Given the description of an element on the screen output the (x, y) to click on. 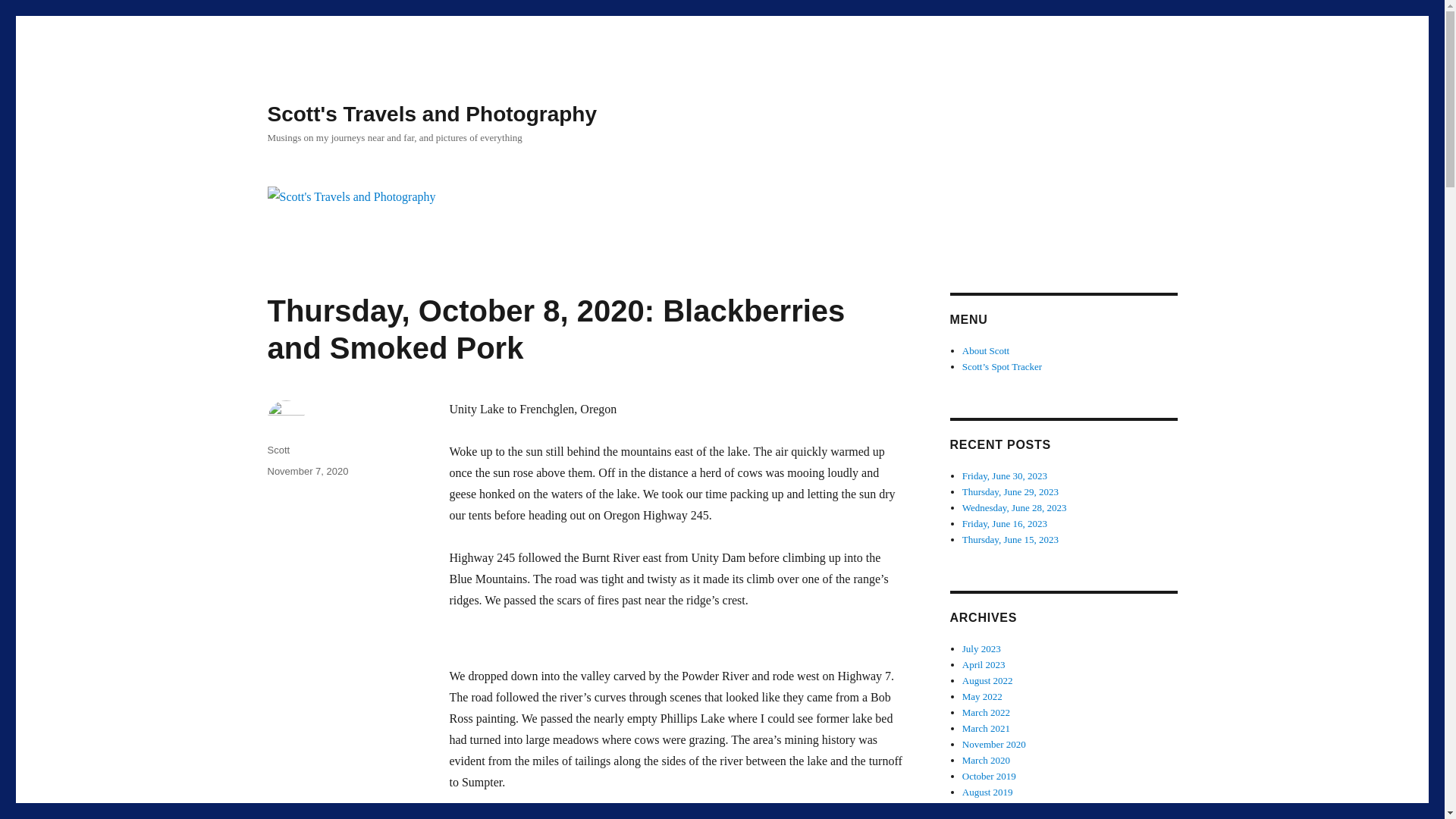
March 2022 (986, 712)
March 2021 (986, 727)
October 2019 (989, 776)
May 2022 (982, 696)
Scott (277, 449)
About Scott (985, 350)
August 2019 (987, 791)
March 2020 (986, 759)
Scott's Travels and Photography (431, 114)
Friday, June 16, 2023 (1004, 523)
